Given the description of an element on the screen output the (x, y) to click on. 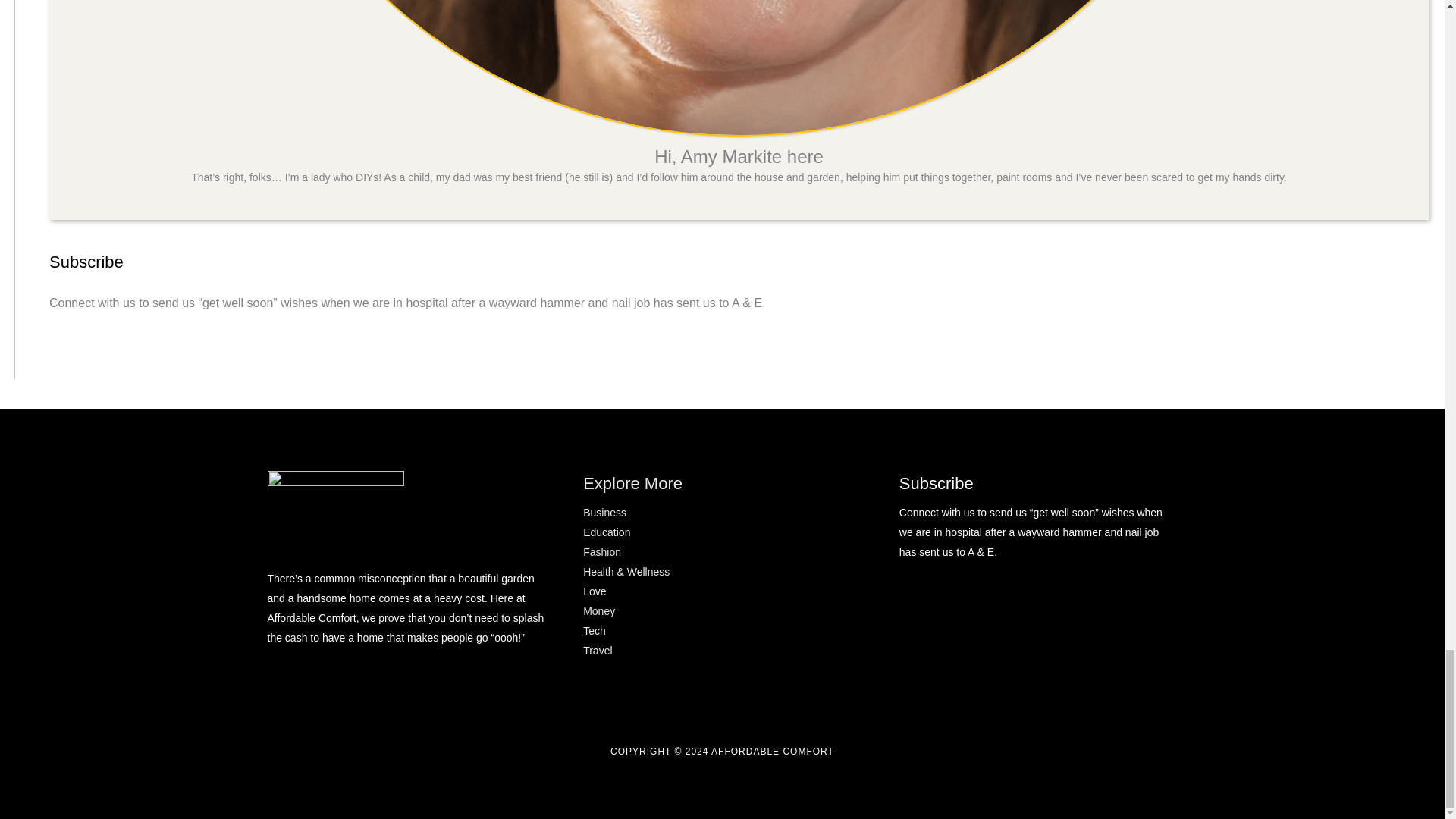
Fashion (602, 551)
Business (604, 512)
Education (606, 532)
